Given the description of an element on the screen output the (x, y) to click on. 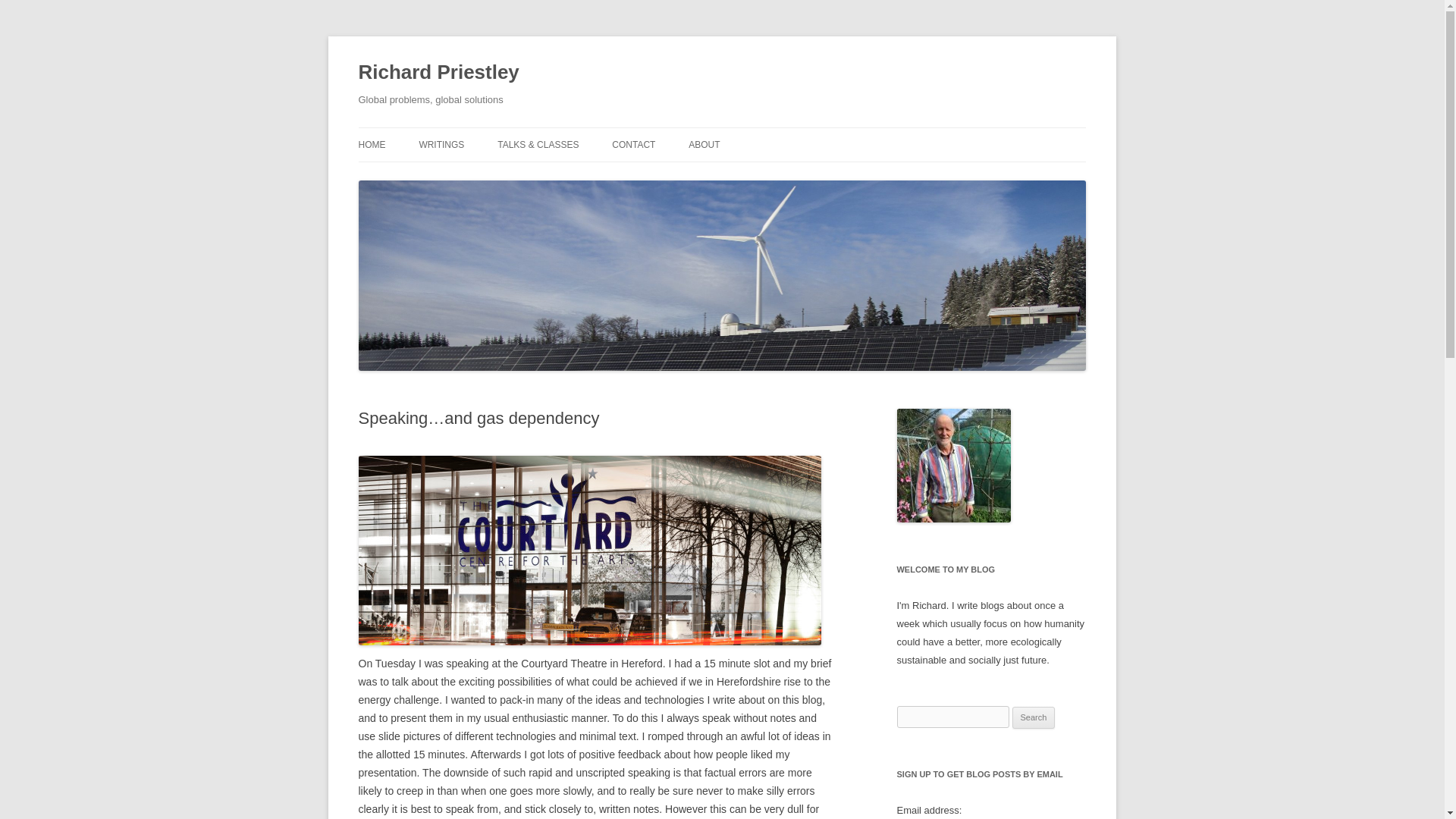
Richard Priestley (438, 72)
Search (1033, 717)
ABOUT (703, 144)
CONTACT (633, 144)
CourtyardatNight (589, 550)
WRITINGS (441, 144)
Richard Priestley (438, 72)
Search (1033, 717)
